Given the description of an element on the screen output the (x, y) to click on. 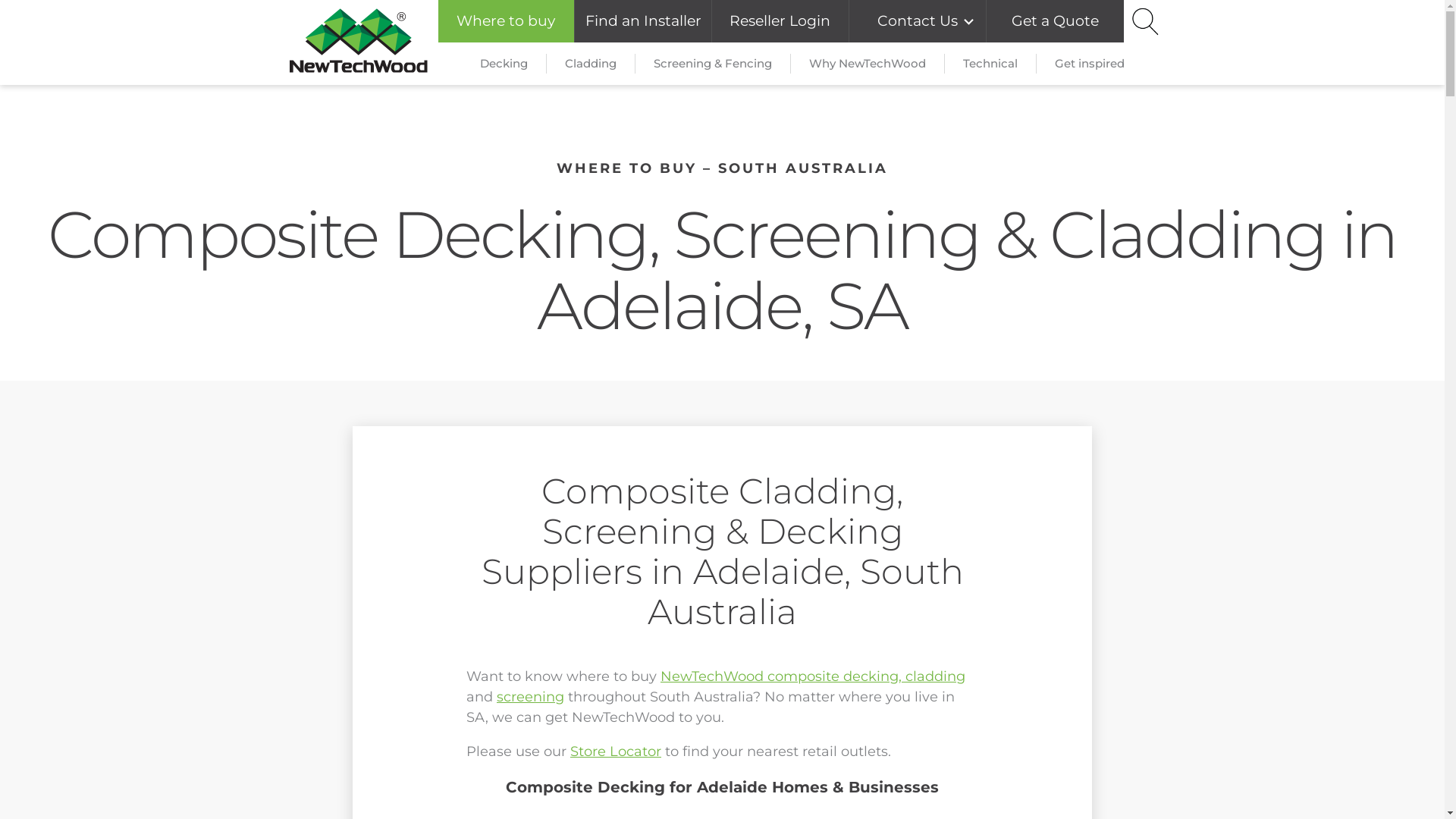
Screening & Fencing Element type: text (712, 63)
Get a Quote Element type: text (1054, 21)
cladding Element type: text (935, 676)
Decking Element type: text (503, 63)
NewTechWood Element type: text (358, 42)
Why NewTechWood Element type: text (867, 63)
screening Element type: text (530, 696)
NewTechWood composite decking,  Element type: text (782, 676)
Where to buy Element type: text (506, 21)
Contact Us Element type: text (917, 21)
Reseller Login Element type: text (780, 21)
Find an Installer Element type: text (642, 21)
Technical Element type: text (990, 63)
Store Locator Element type: text (615, 751)
Get inspired Element type: text (1088, 63)
Cladding Element type: text (590, 63)
